Given the description of an element on the screen output the (x, y) to click on. 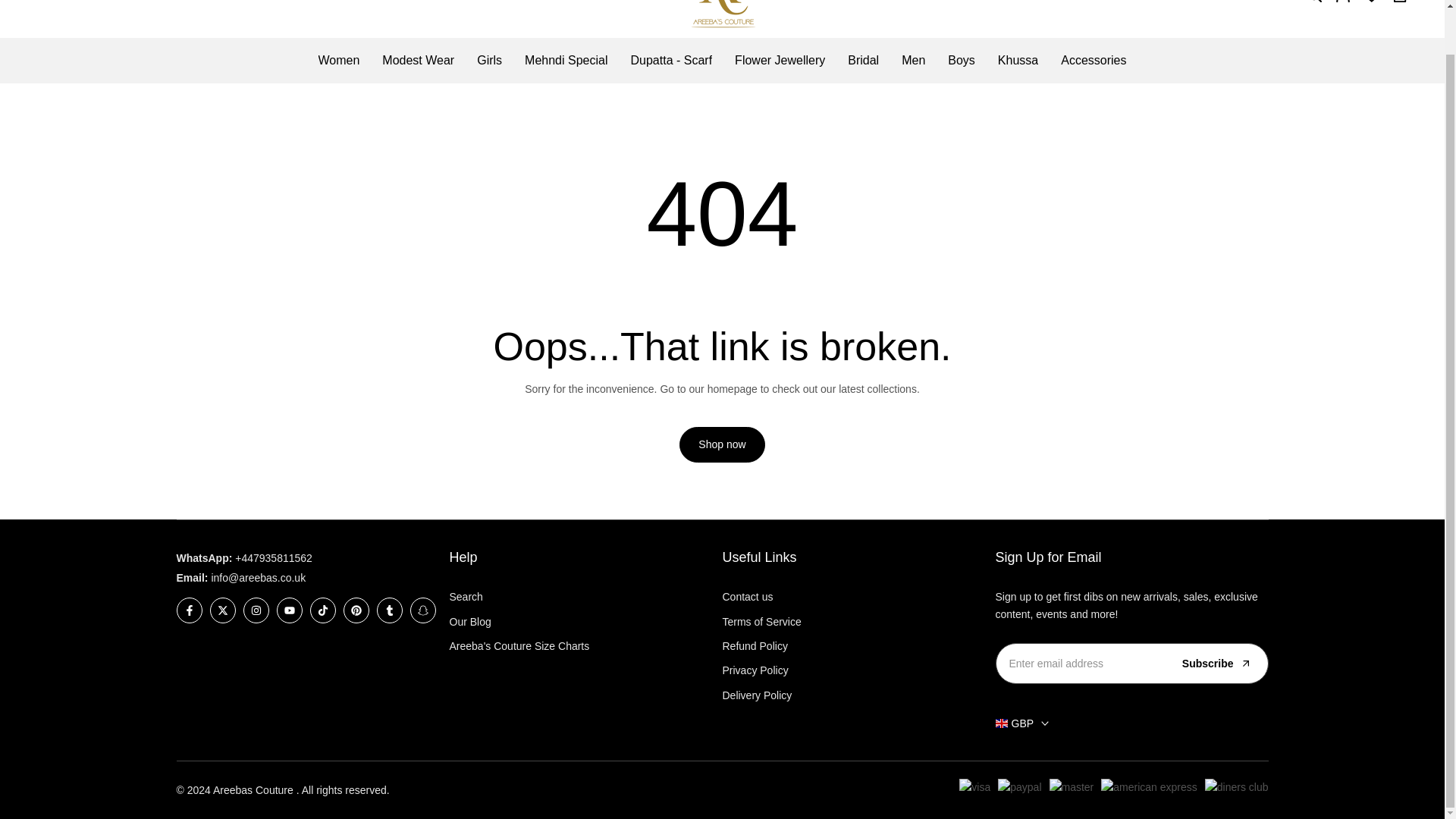
0 (1371, 1)
GBP (57, 0)
